Given the description of an element on the screen output the (x, y) to click on. 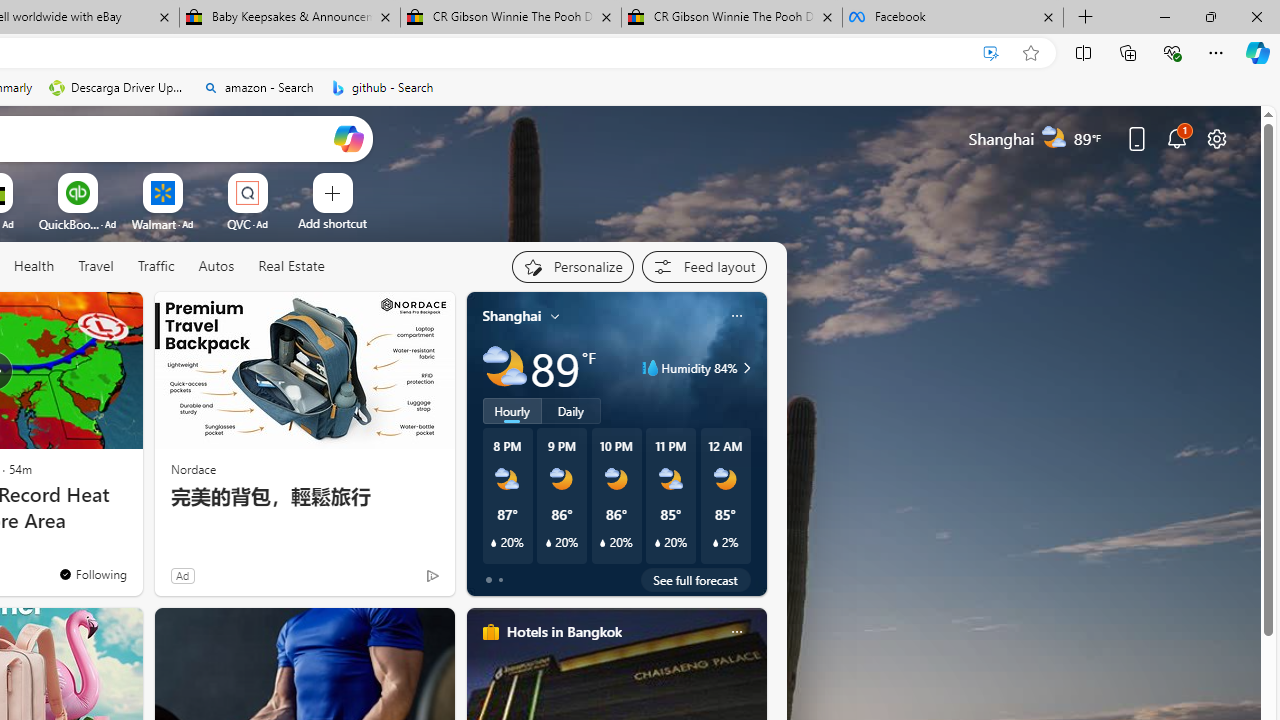
Class: weather-arrow-glyph (746, 367)
Humidity 84% (744, 367)
Descarga Driver Updater (118, 88)
Add a site (332, 223)
hotels-header-icon (490, 632)
Daily (571, 411)
